Given the description of an element on the screen output the (x, y) to click on. 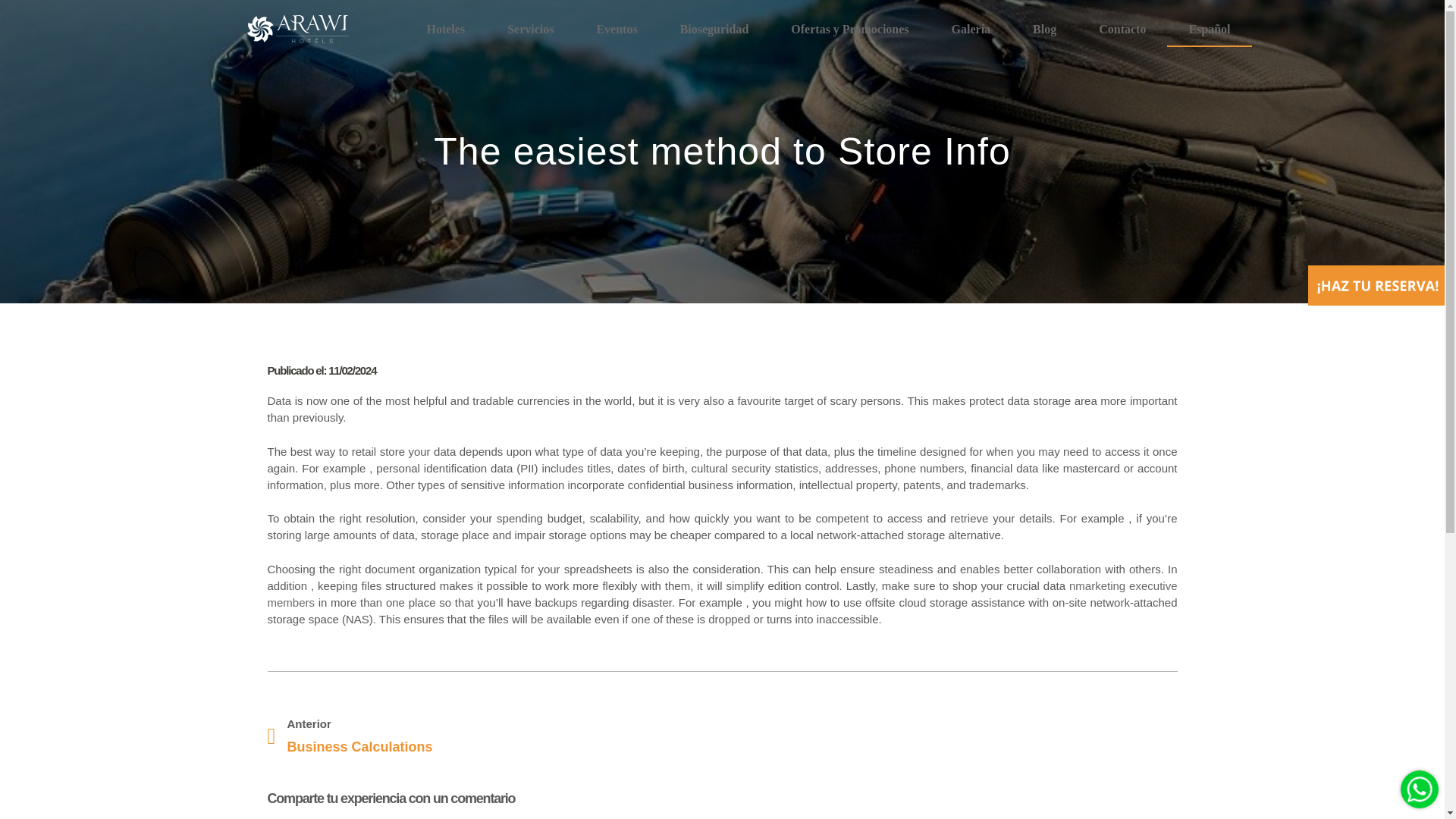
Ofertas y Promociones (850, 29)
Eventos (616, 29)
nmarketing executive members (721, 594)
Bioseguridad (714, 29)
Contacto (1122, 29)
Hoteles (445, 29)
Servicios (530, 29)
Blog (1044, 29)
